Given the description of an element on the screen output the (x, y) to click on. 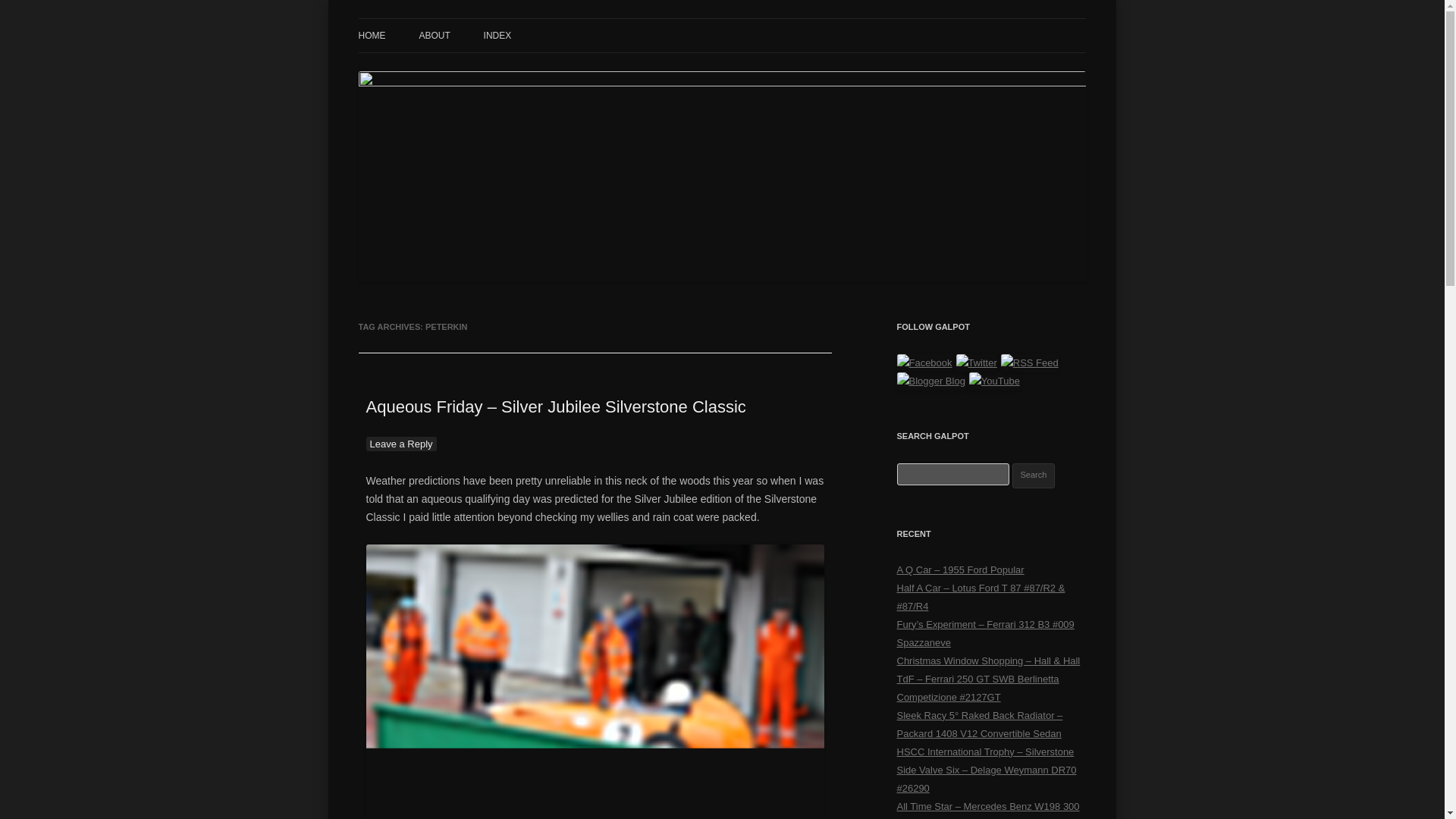
psychoontyres - YouTube (994, 380)
Leave a Reply (400, 443)
Connect on Facebook (924, 362)
Gettin' A Li'l Psycho On Tyres (497, 36)
ABOUT (434, 35)
Gettin' A Li'l Psycho On Tyres (497, 36)
Subscribe to RSS Feed (1029, 362)
Search (1033, 475)
Blogger Blog (929, 380)
Follow arttidesco on Twitter (976, 362)
